Given the description of an element on the screen output the (x, y) to click on. 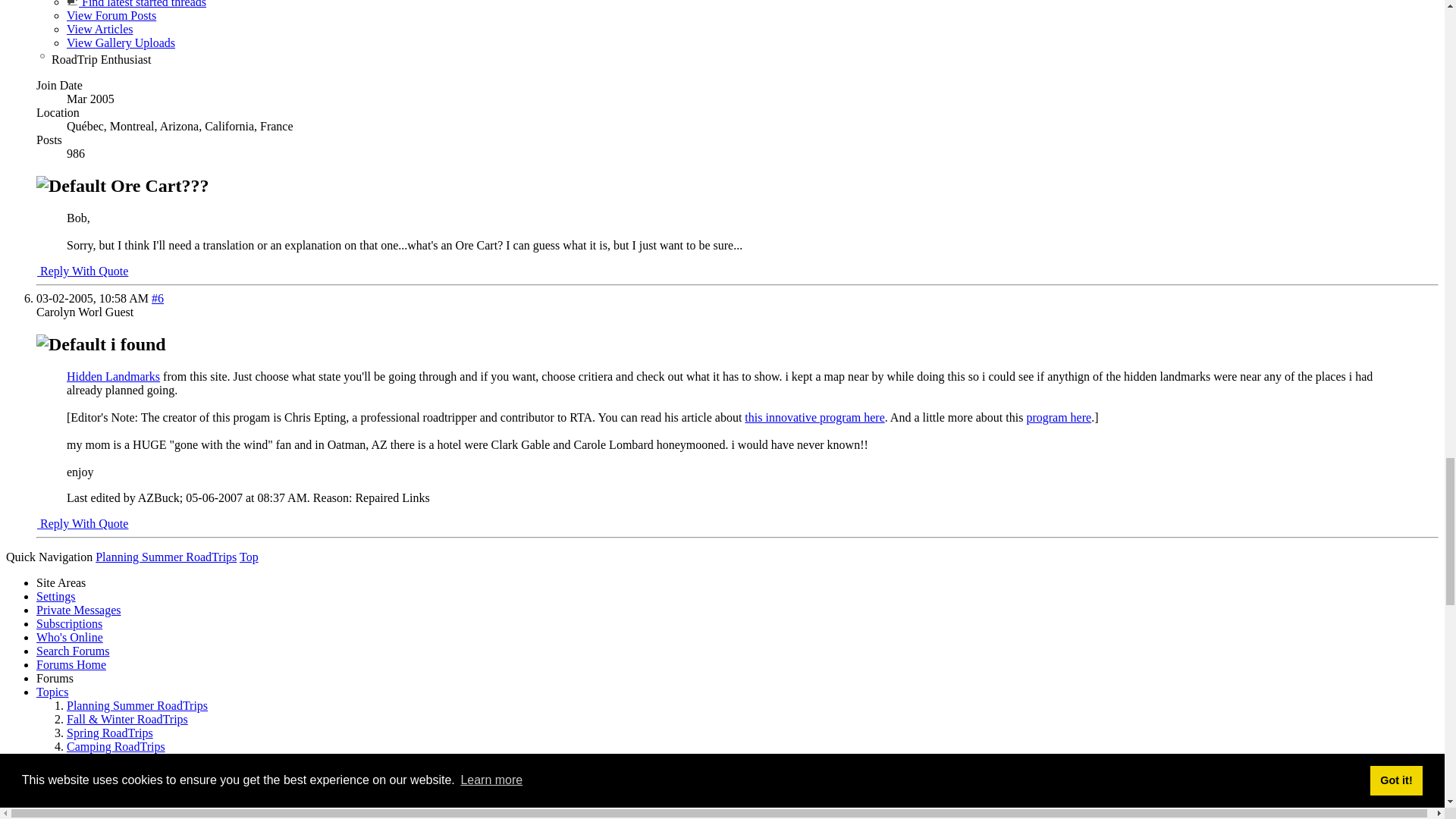
Reply With Quote (82, 270)
Reply With Quote (82, 522)
